Given the description of an element on the screen output the (x, y) to click on. 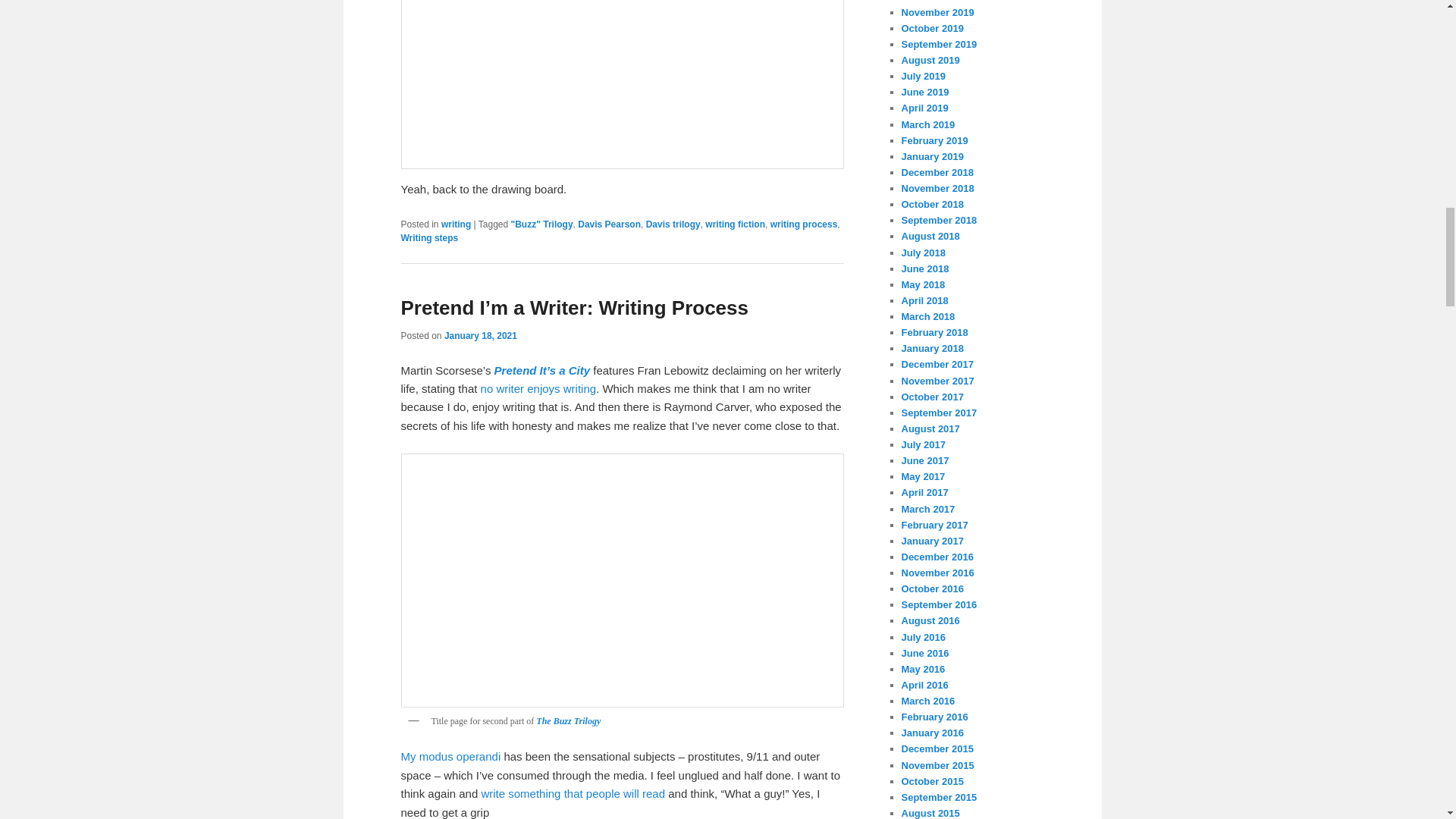
no writer enjoys writing (538, 388)
January 18, 2021 (480, 335)
Davis trilogy (673, 224)
My modus operandi (450, 756)
writing fiction (734, 224)
writing process (804, 224)
"Buzz" Trilogy (542, 224)
The Buzz Trilogy (567, 720)
Writing steps (429, 237)
writing (455, 224)
Davis Pearson (609, 224)
2:16 pm (480, 335)
